Given the description of an element on the screen output the (x, y) to click on. 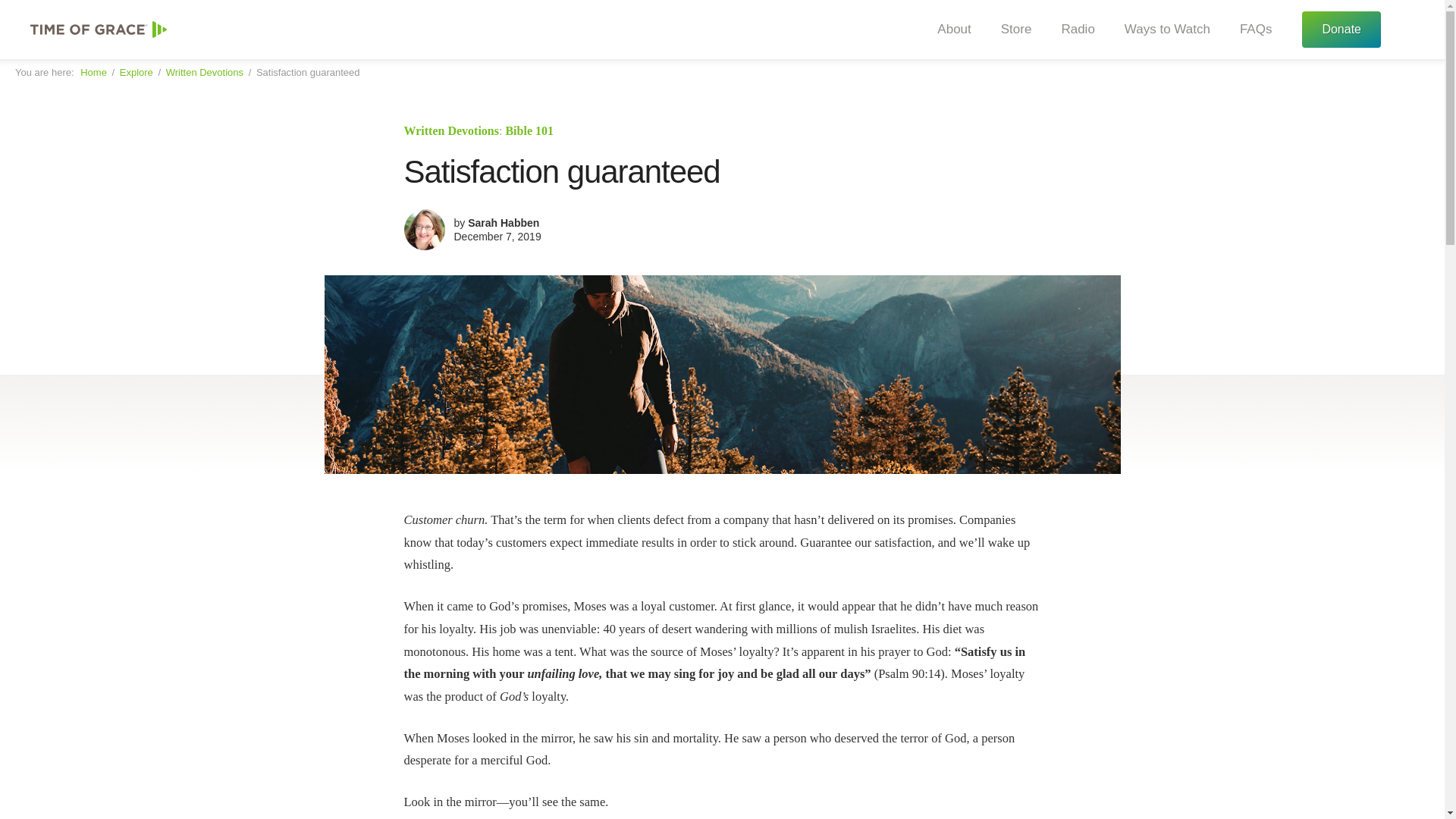
Radio (1071, 29)
Donate (1340, 29)
FAQs (1250, 29)
About (948, 29)
Ways to Watch (1161, 29)
Store (1011, 29)
